Given the description of an element on the screen output the (x, y) to click on. 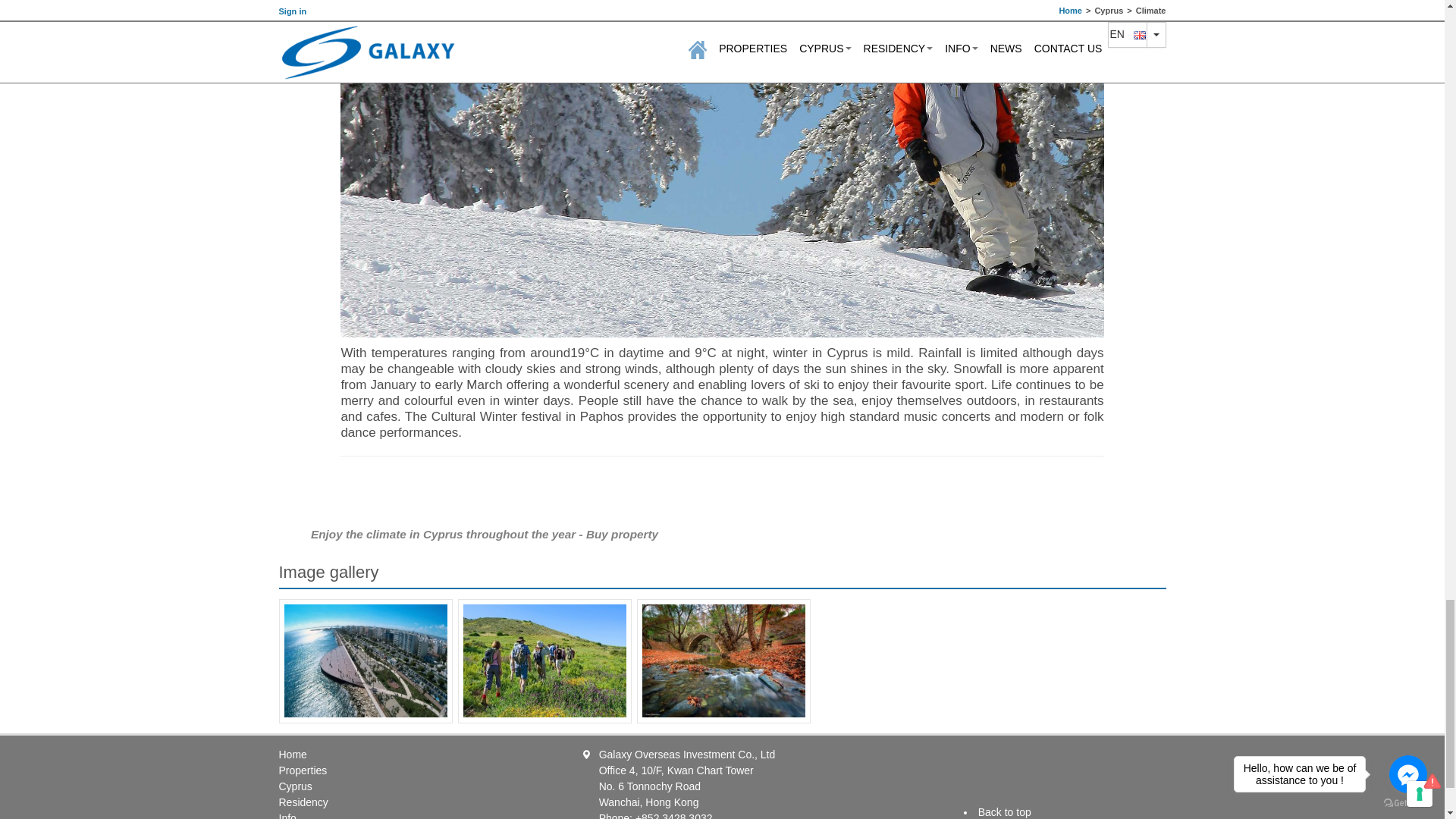
Privacy Policy  (999, 759)
Cookie Policy  (999, 780)
